Given the description of an element on the screen output the (x, y) to click on. 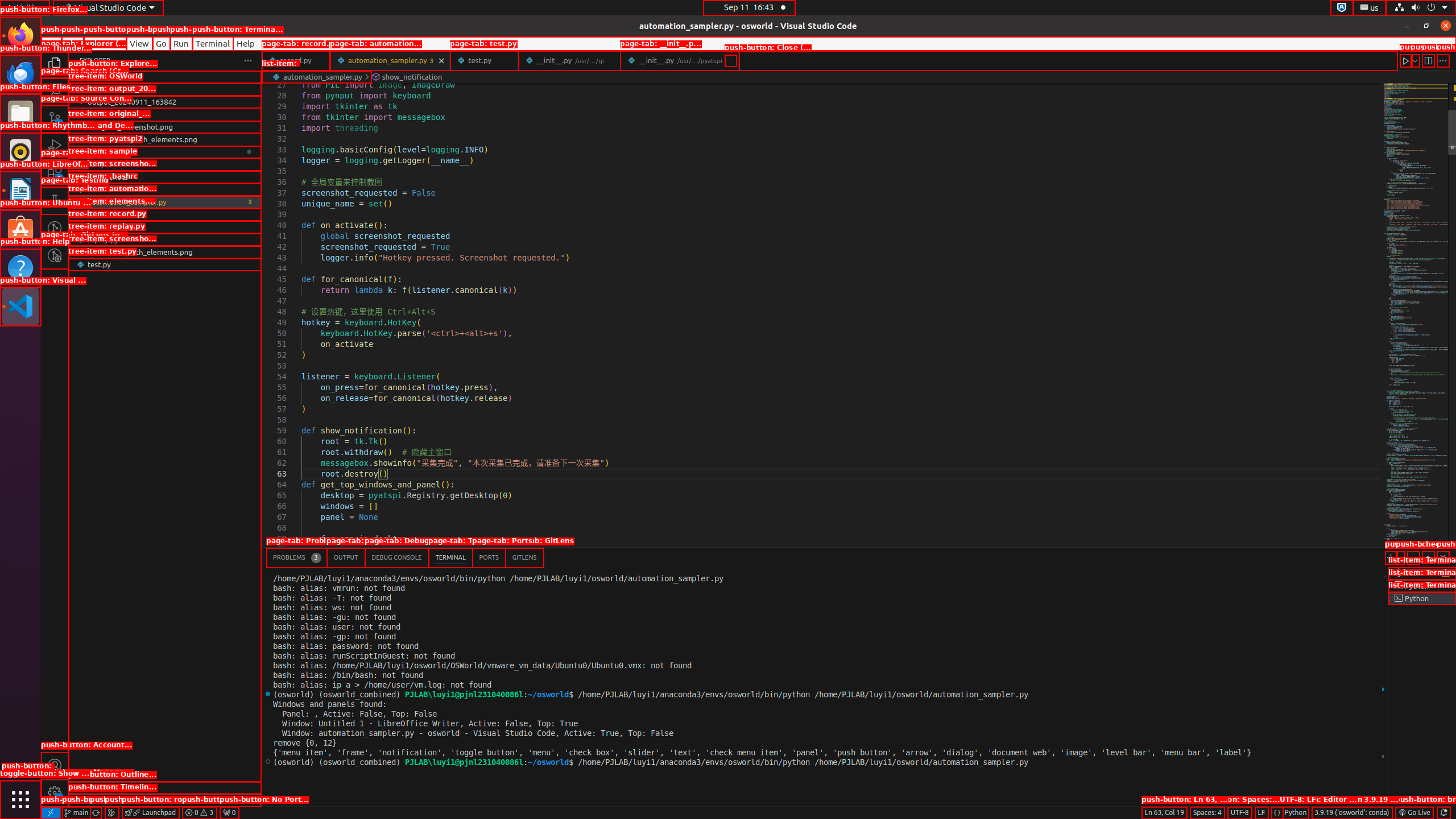
More Actions... Element type: push-button (1442, 60)
Editor Language Status: Auto Import Completions: false, next: Type Checking: off Element type: push-button (1277, 812)
Testing Element type: page-tab (54, 200)
Active View Switcher Element type: page-tab-list (404, 557)
Files Explorer Element type: tree (164, 432)
